Given the description of an element on the screen output the (x, y) to click on. 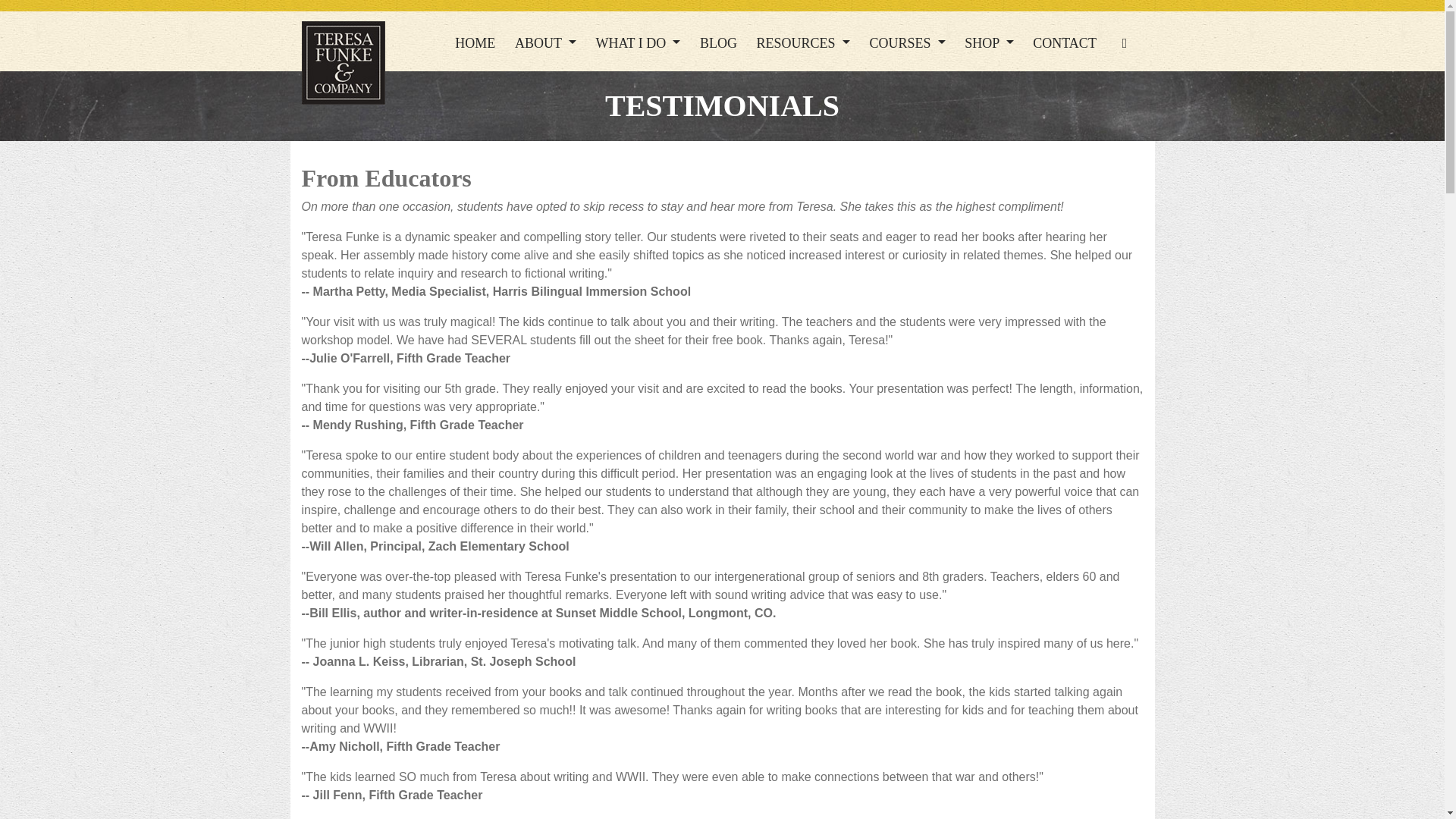
CONTACT (1064, 43)
Cart (1124, 43)
WHAT I DO (638, 43)
Resources (803, 43)
Blog (718, 43)
BLOG (718, 43)
RESOURCES (803, 43)
Home (475, 43)
COURSES (907, 43)
Shop (989, 43)
ABOUT (545, 43)
SHOP (989, 43)
Contact (1064, 43)
HOME (475, 43)
About (545, 43)
